Given the description of an element on the screen output the (x, y) to click on. 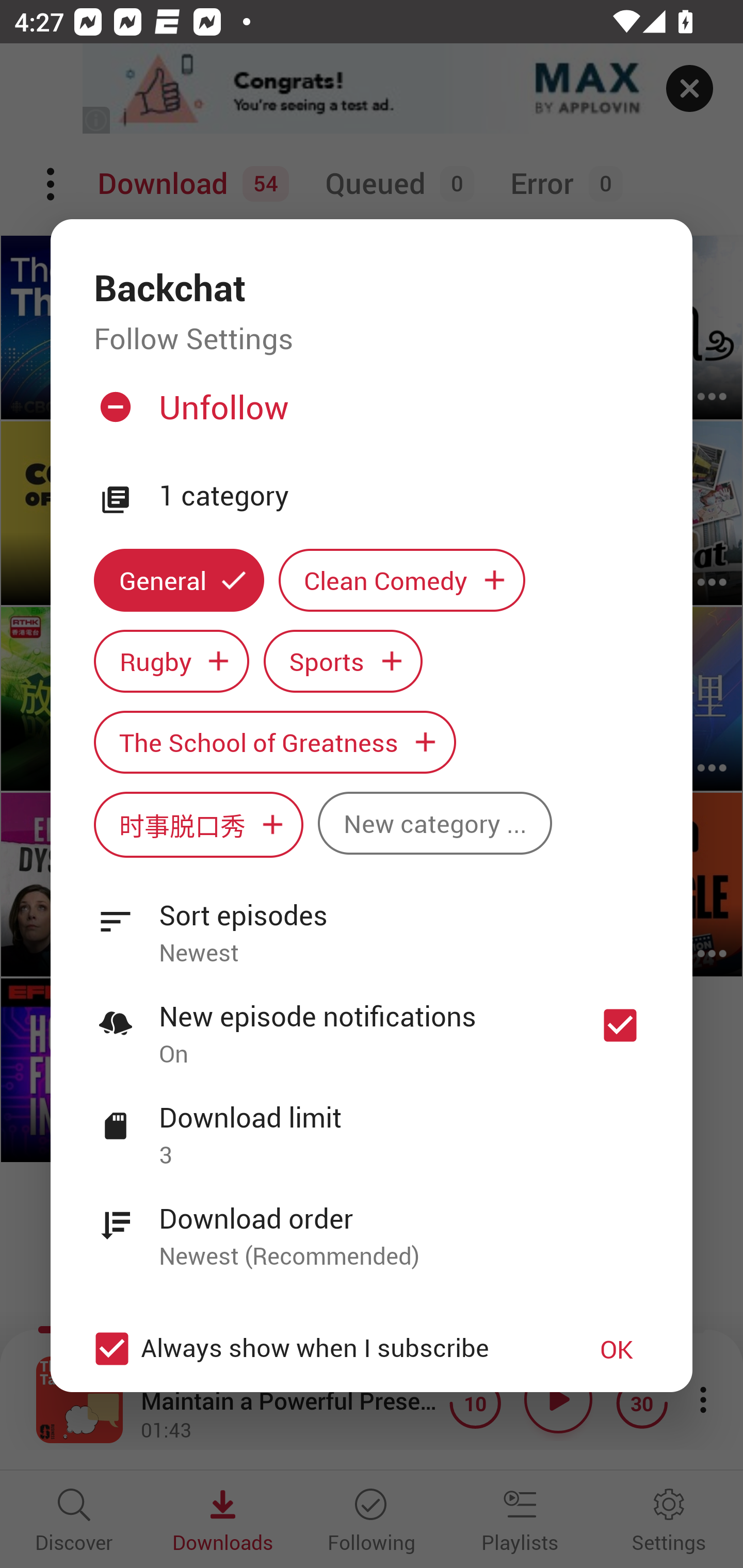
Unfollow (369, 415)
1 category (404, 495)
General (178, 579)
Clean Comedy (401, 579)
Rugby (170, 661)
Sports (342, 661)
The School of Greatness (274, 741)
时事脱口秀 (198, 824)
New category ... (435, 822)
Sort episodes Newest (371, 922)
New episode notifications (620, 1025)
Download limit 3 (371, 1125)
Download order Newest (Recommended) (371, 1226)
OK (616, 1349)
Always show when I subscribe (320, 1349)
